Given the description of an element on the screen output the (x, y) to click on. 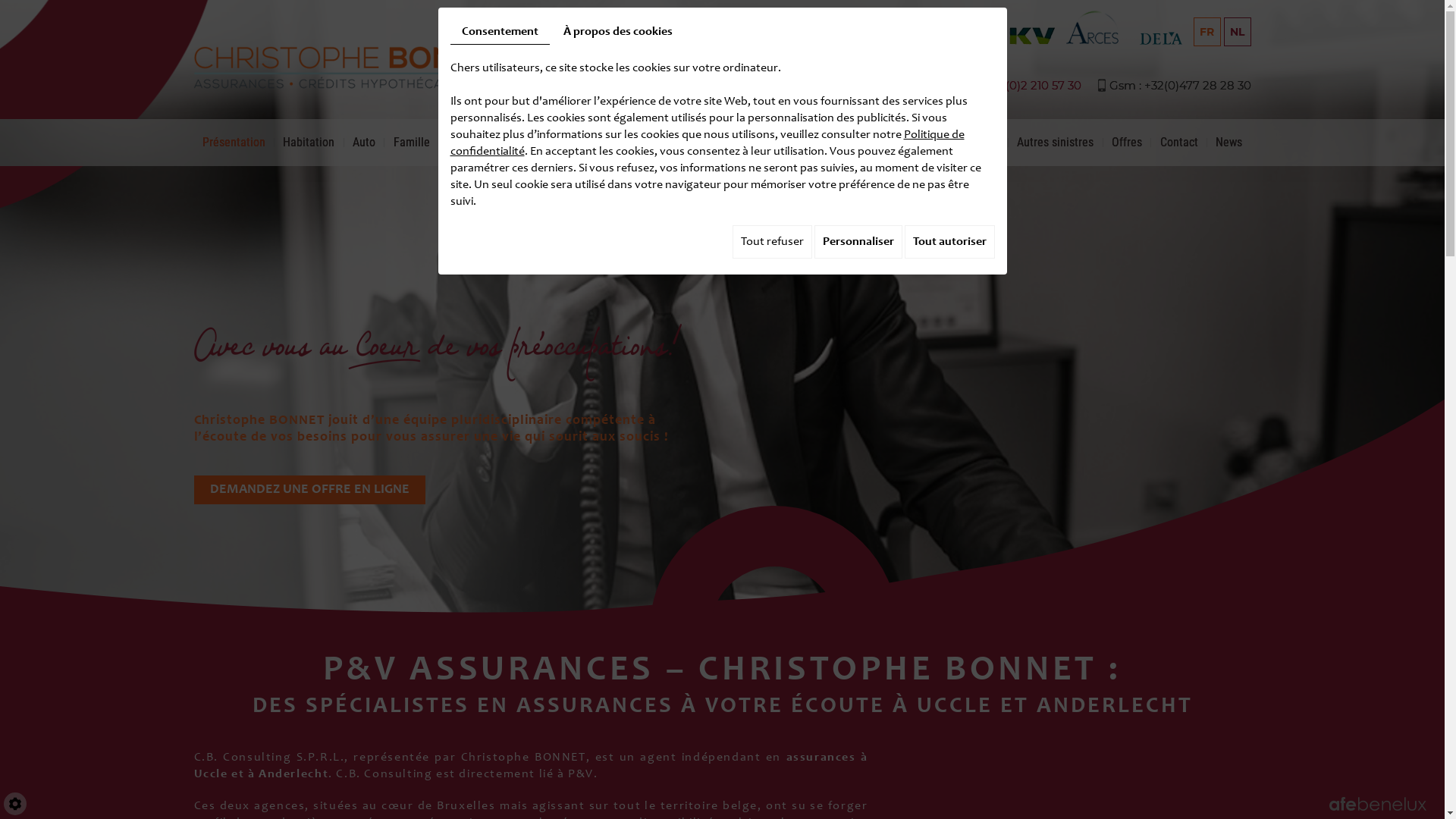
Offres Element type: text (1127, 142)
Tout autoriser Element type: text (948, 241)
NL Element type: text (1237, 31)
ARCES & DKV Element type: text (724, 142)
Auto Element type: text (364, 142)
FR Element type: text (1206, 31)
Consentement Element type: text (499, 31)
News Element type: text (1229, 142)
+32(0)477 28 28 30 Element type: text (1196, 85)
DEMANDEZ UNE OFFRE EN LIGNE Element type: text (309, 489)
Assistances Element type: text (644, 142)
+32(0)2 403 73 14 Element type: text (830, 85)
Habitation Element type: text (308, 142)
Epargne et vie Element type: text (561, 142)
Tout refuser Element type: text (772, 241)
Autres sinistres Element type: text (1055, 142)
Contact Element type: text (1178, 142)
+32(0)2 210 57 30 Element type: text (1033, 85)
Sinistre auto Element type: text (967, 142)
Personnaliser Element type: text (858, 241)
Famille Element type: text (411, 142)
